Given the description of an element on the screen output the (x, y) to click on. 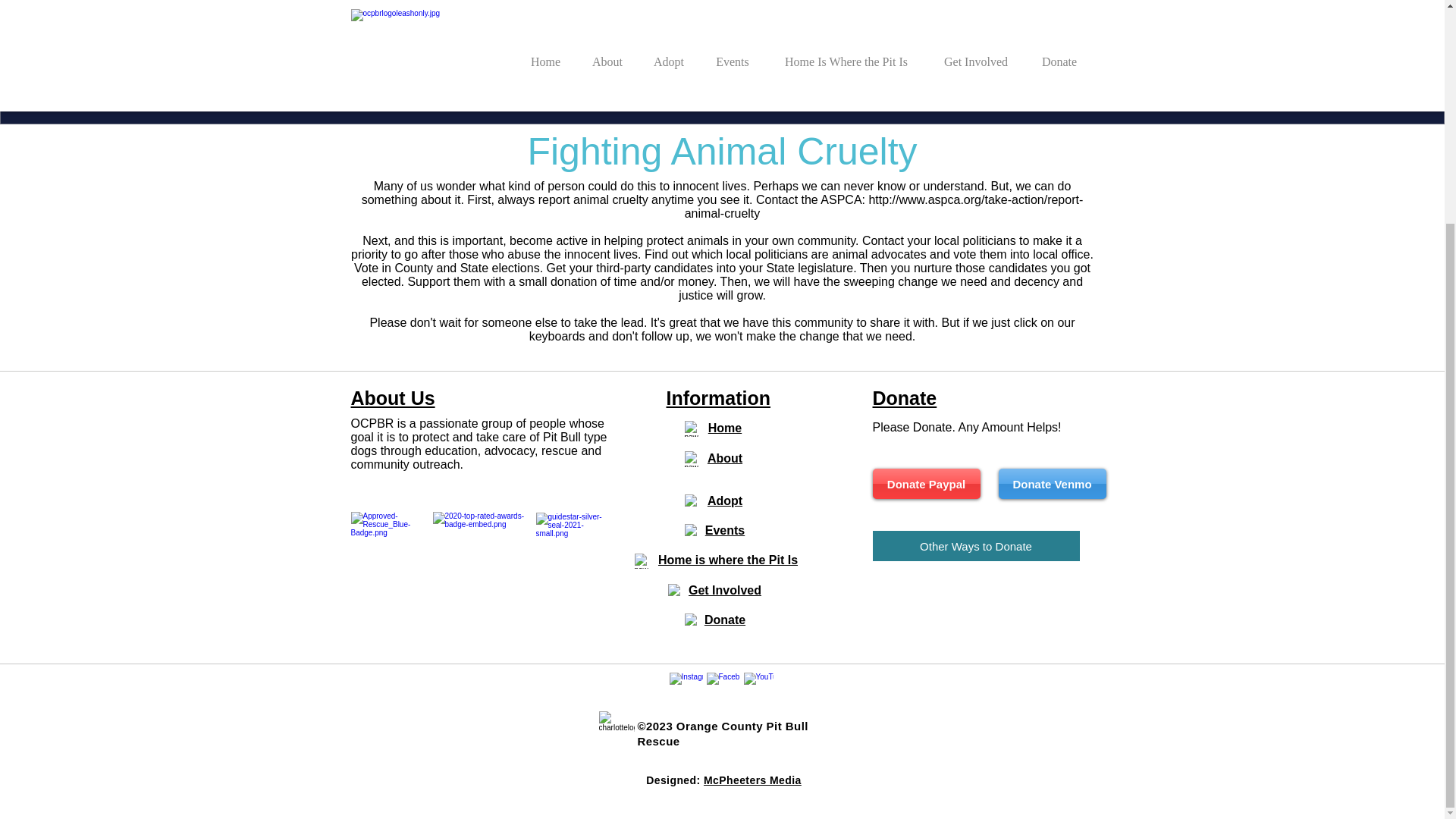
Donate Paypal (925, 483)
Home is where the Pit Is (727, 559)
Donate (724, 619)
Other Ways to Donate (975, 545)
Home (724, 427)
Events (724, 530)
Adopt (724, 500)
Donate Venmo (1051, 483)
About (724, 458)
Get Involved (724, 590)
